Given the description of an element on the screen output the (x, y) to click on. 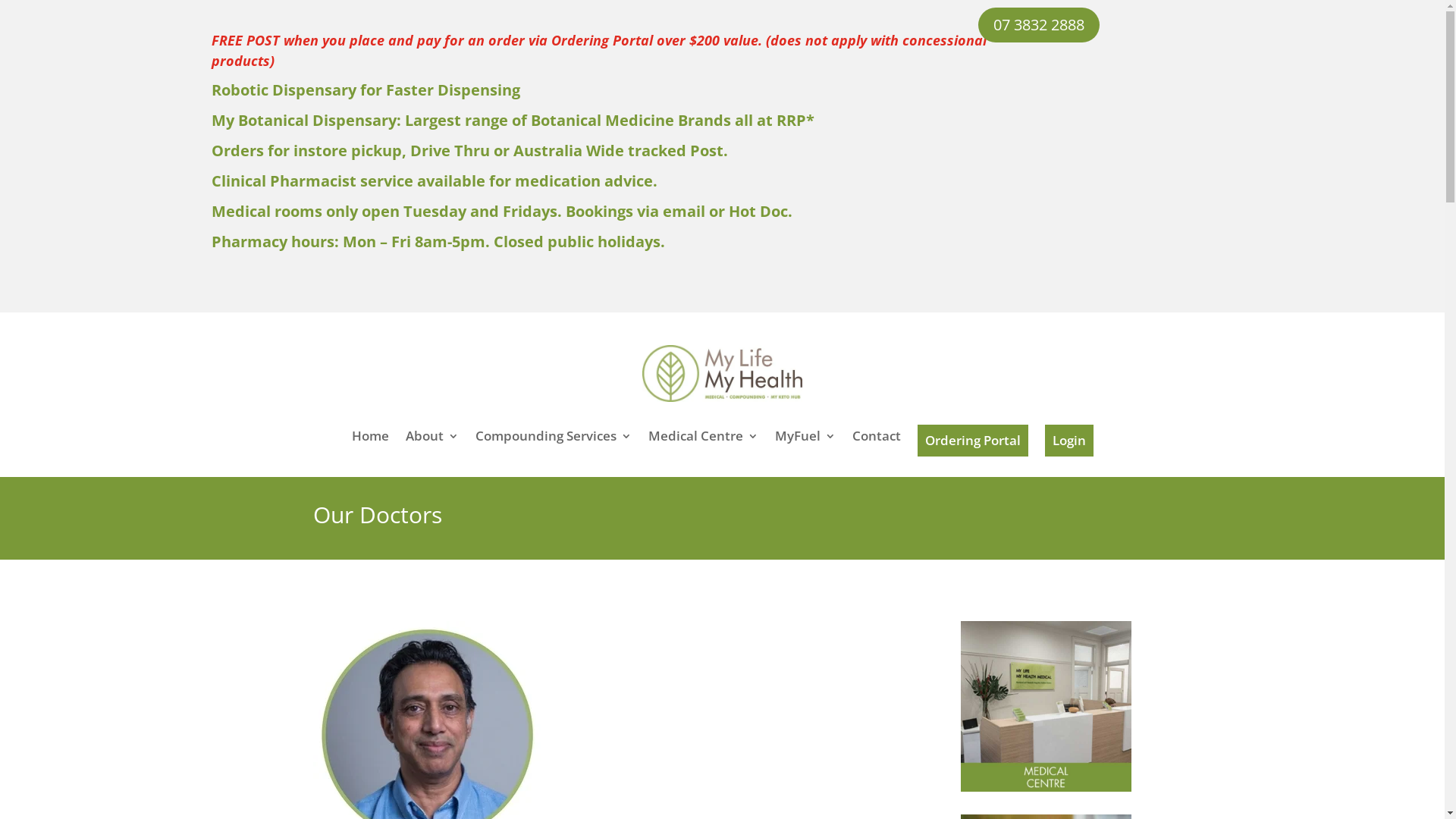
07 3832 2888 Element type: text (1038, 24)
MyFuel Element type: text (805, 443)
Login Element type: text (1068, 440)
Medical Centre Element type: text (702, 443)
my-life-my-health-compounding-pharmacy-brisbane Element type: hover (722, 373)
Ordering Portal Element type: text (972, 440)
About Element type: text (431, 443)
Contact Element type: text (876, 443)
Home Element type: text (370, 443)
Compounding Services Element type: text (552, 443)
